Given the description of an element on the screen output the (x, y) to click on. 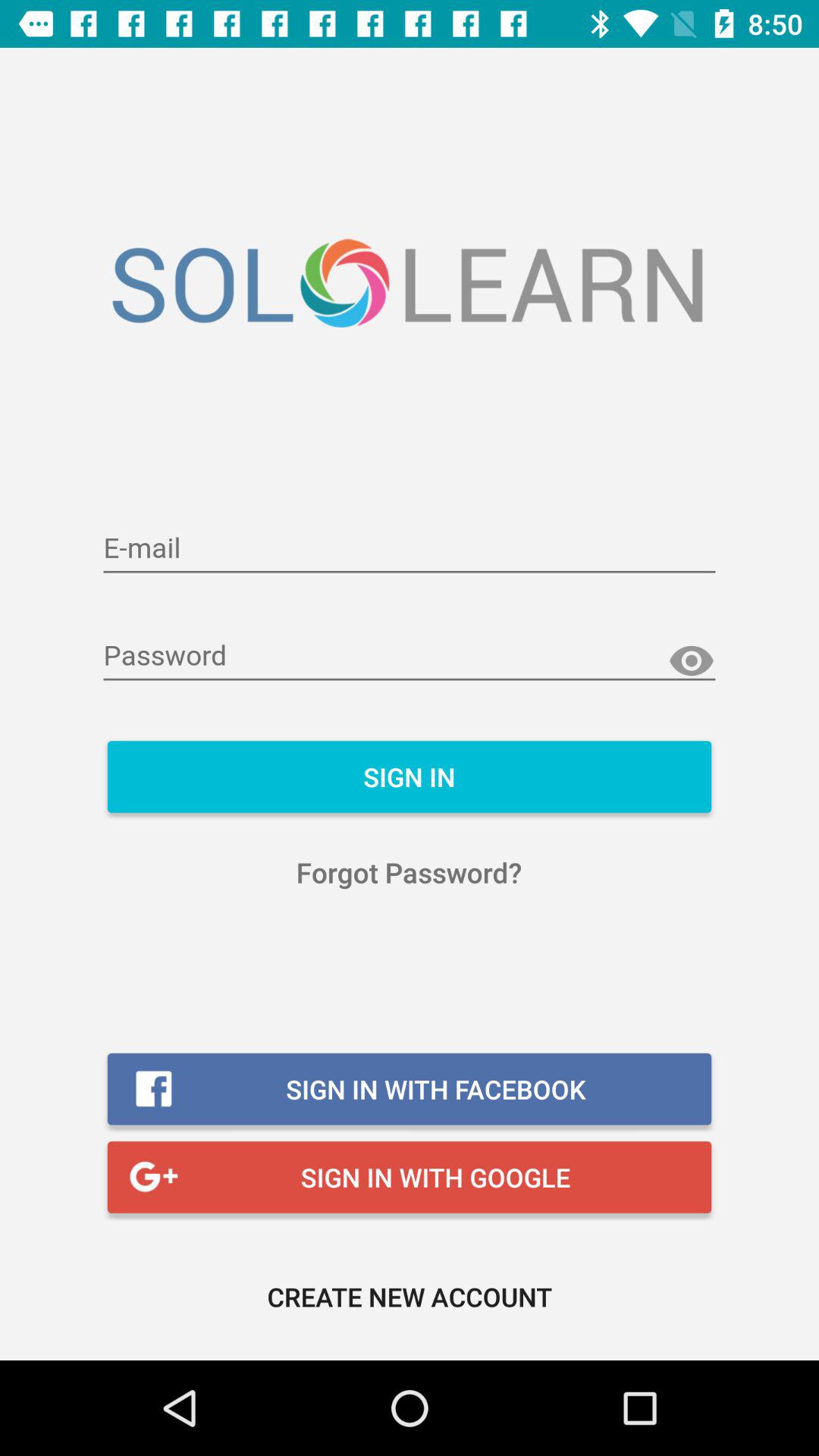
scroll until the create new account (409, 1296)
